Given the description of an element on the screen output the (x, y) to click on. 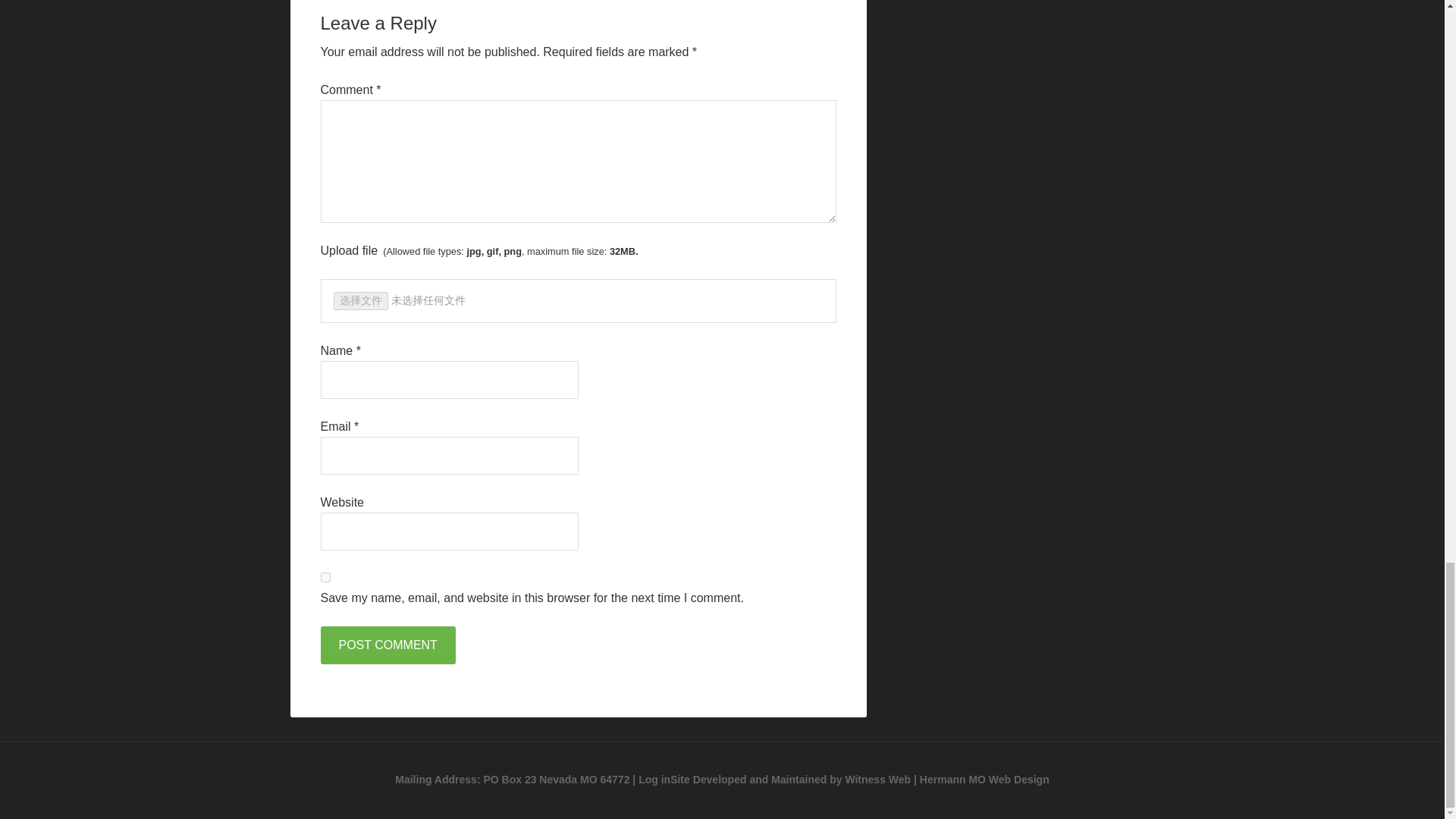
Web Design (1018, 779)
Log in (654, 779)
Post Comment (387, 645)
Post Comment (387, 645)
yes (325, 577)
Hermann MO (952, 779)
